Given the description of an element on the screen output the (x, y) to click on. 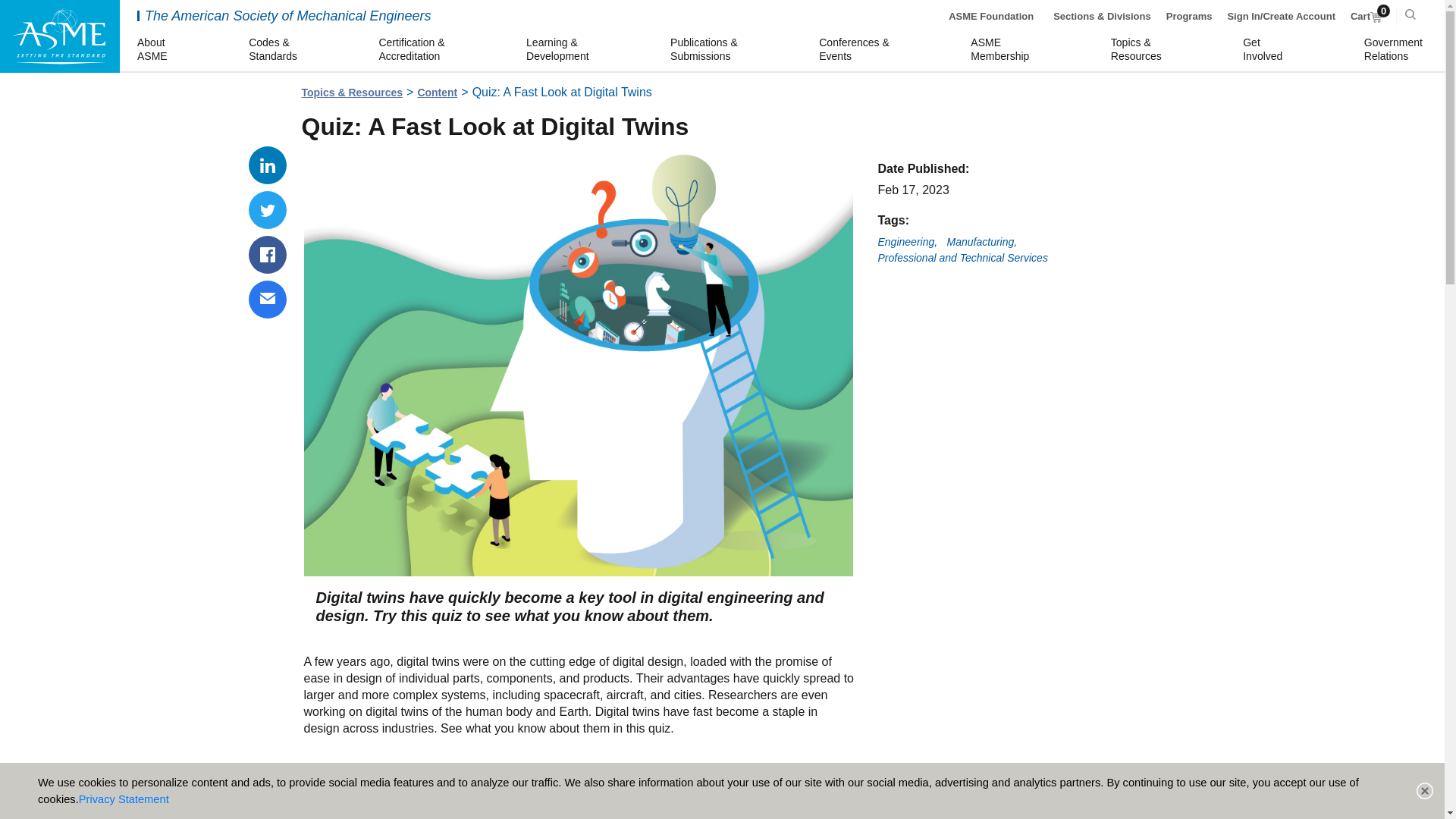
Share on Twitter (1395, 49)
Engineering (267, 209)
Share via email (907, 241)
Close Banner (153, 49)
Interaction questions (267, 299)
Manufacturing (1265, 49)
Share on Facebook (1424, 790)
Programs (1002, 49)
ASME (579, 786)
Content (982, 241)
